Given the description of an element on the screen output the (x, y) to click on. 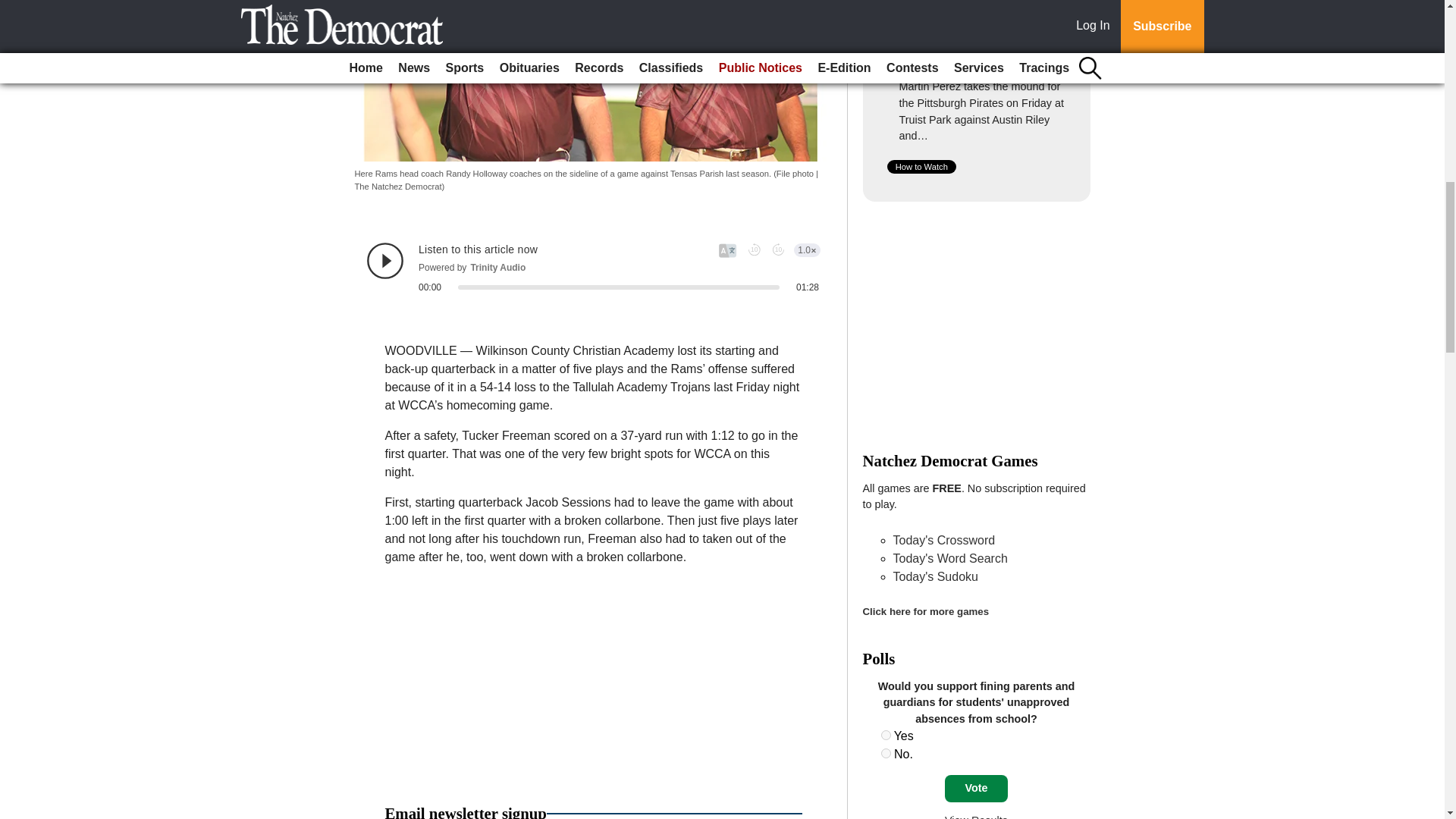
View Results Of This Poll (975, 816)
22421 (885, 735)
22422 (885, 753)
Trinity Audio Player (592, 267)
   Vote    (975, 788)
